Given the description of an element on the screen output the (x, y) to click on. 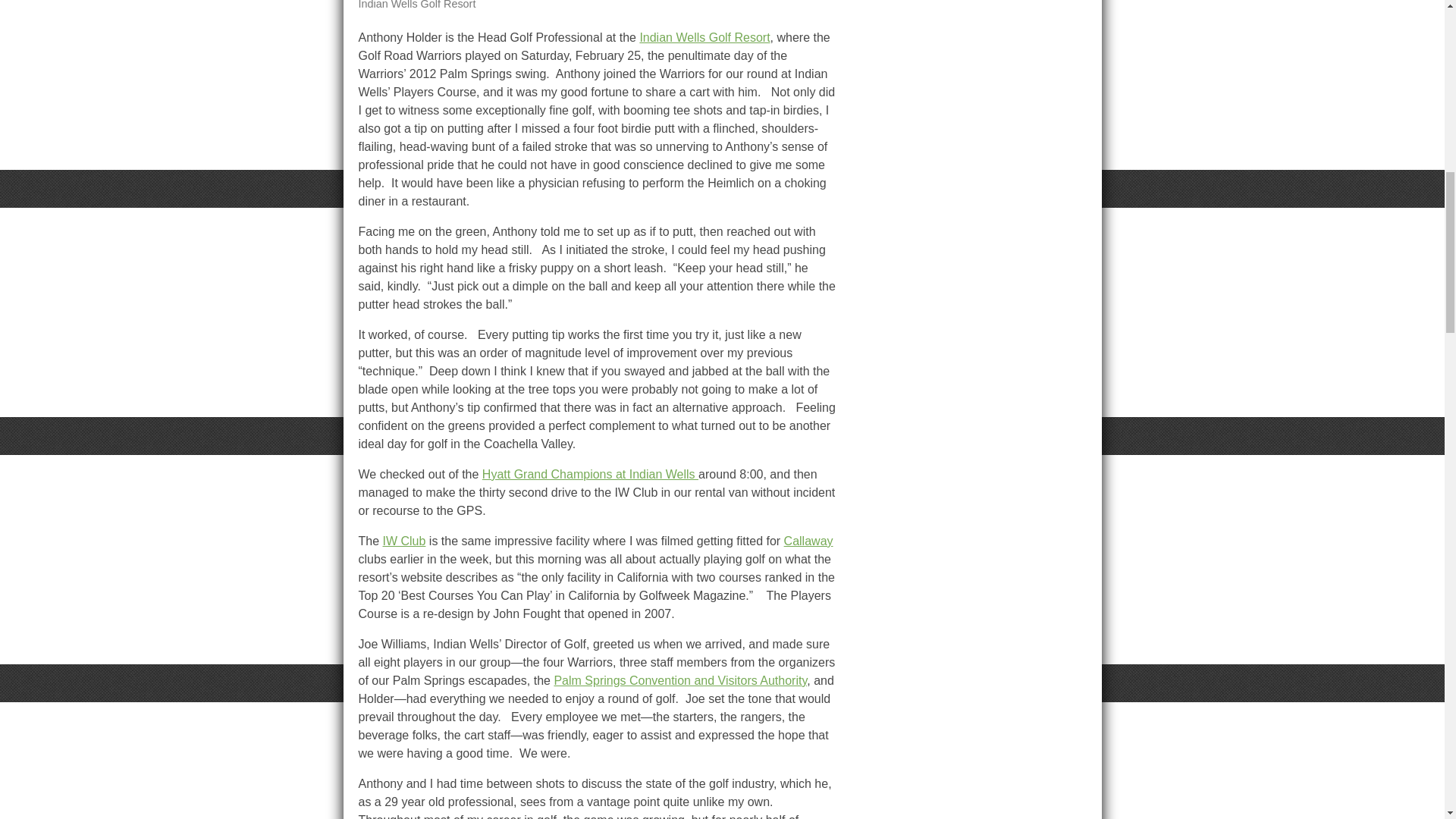
Callaway (808, 540)
Hyatt Grand Champions at Indian Wells (589, 473)
Indian Wells Golf Resort (704, 37)
Palm Springs Convention and Visitors Authority (679, 680)
IW Club (404, 540)
